Given the description of an element on the screen output the (x, y) to click on. 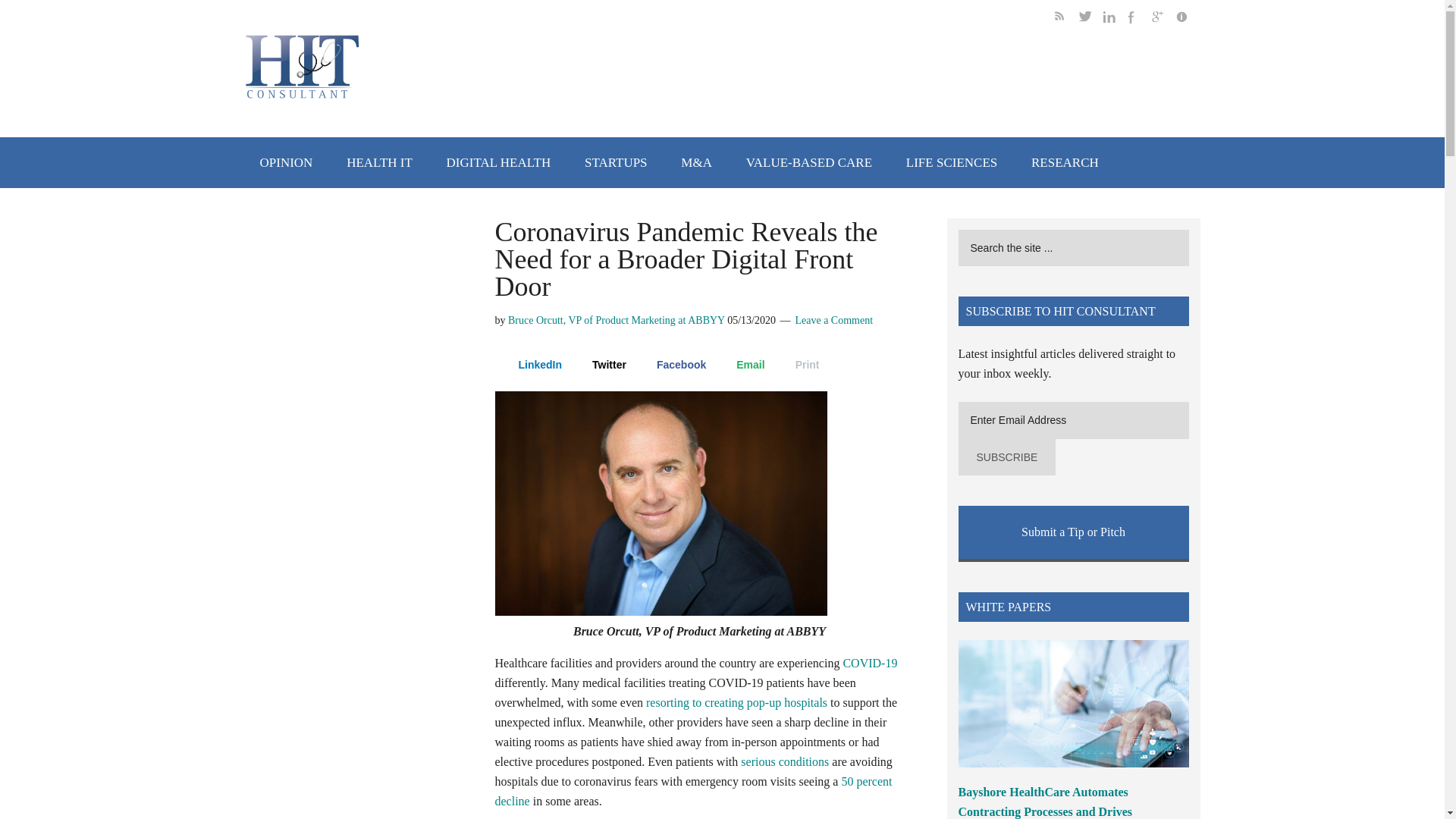
STARTUPS (615, 162)
DIGITAL HEALTH (498, 162)
Leave a Comment (833, 319)
LinkedIn (532, 364)
get feed (1066, 19)
Facebook (673, 364)
Bruce Orcutt, VP of Product Marketing at ABBYY (616, 319)
RESEARCH (1064, 162)
HEALTH IT (379, 162)
